Given the description of an element on the screen output the (x, y) to click on. 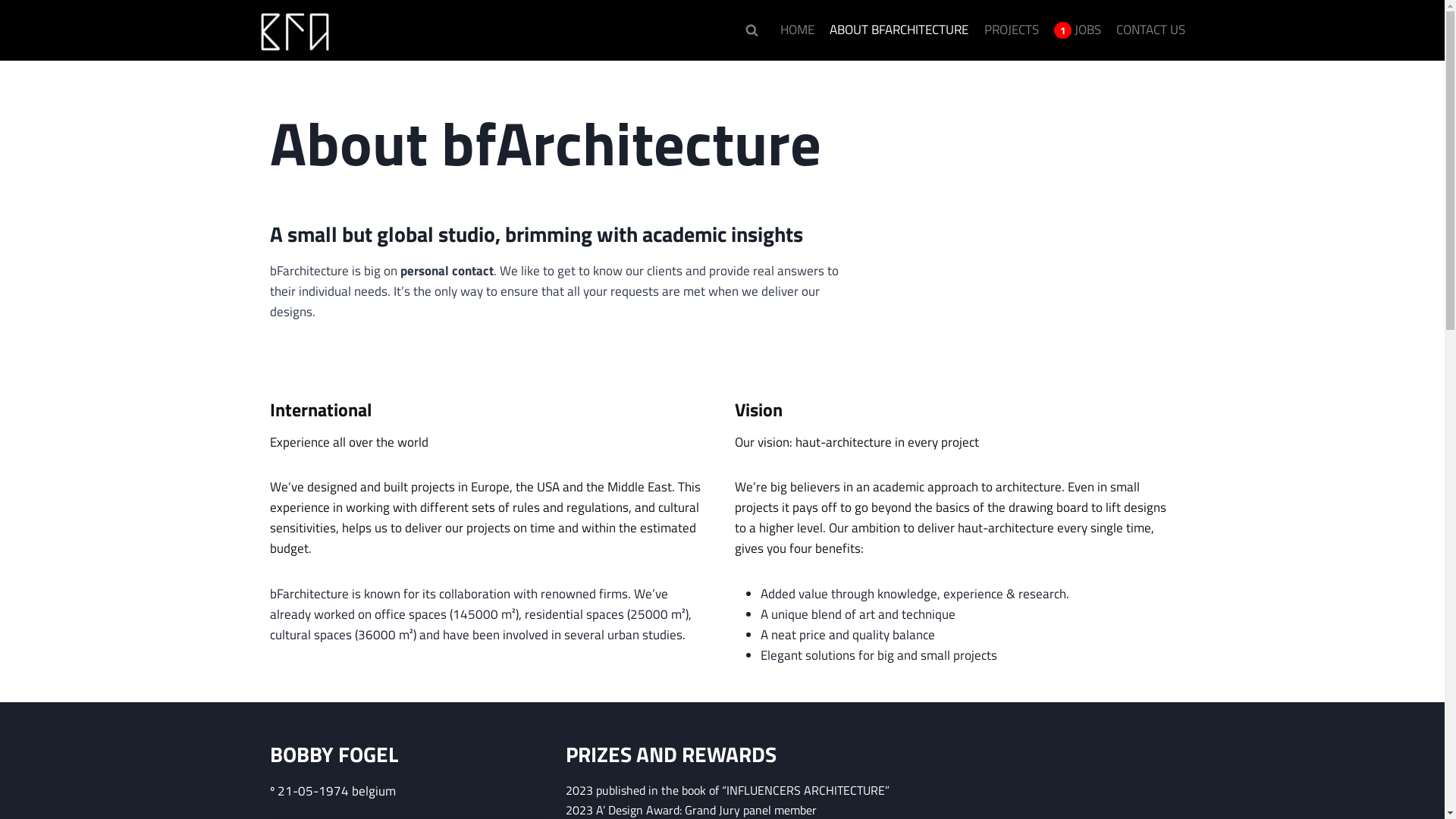
PROJECTS Element type: text (1010, 30)
HOME Element type: text (797, 30)
1 JOBS Element type: text (1077, 30)
ABOUT BFARCHITECTURE Element type: text (898, 30)
CONTACT US Element type: text (1150, 30)
BOBBY FOGEL Element type: text (333, 753)
